Given the description of an element on the screen output the (x, y) to click on. 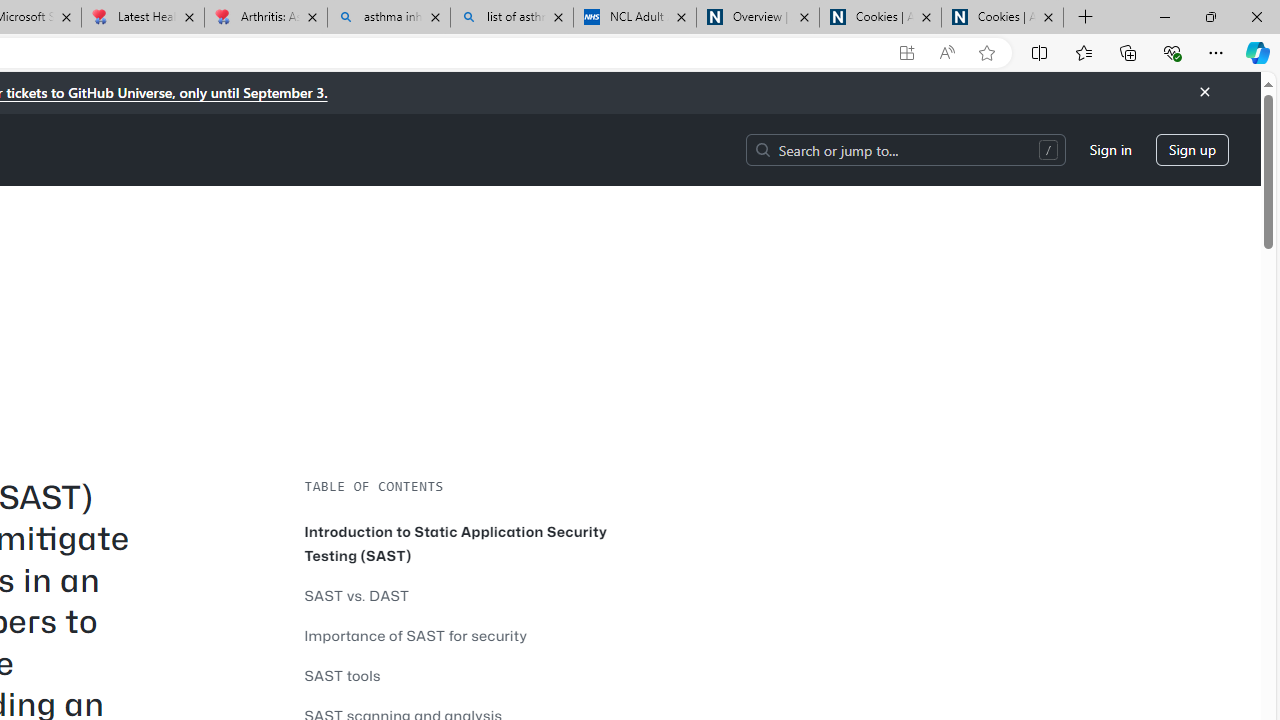
Introduction to Static Application Security Testing (SAST) (456, 542)
SAST vs. DAST (460, 595)
SAST tools (342, 675)
SAST vs. DAST (356, 595)
asthma inhaler - Search (388, 17)
Importance of SAST for security (460, 635)
